Given the description of an element on the screen output the (x, y) to click on. 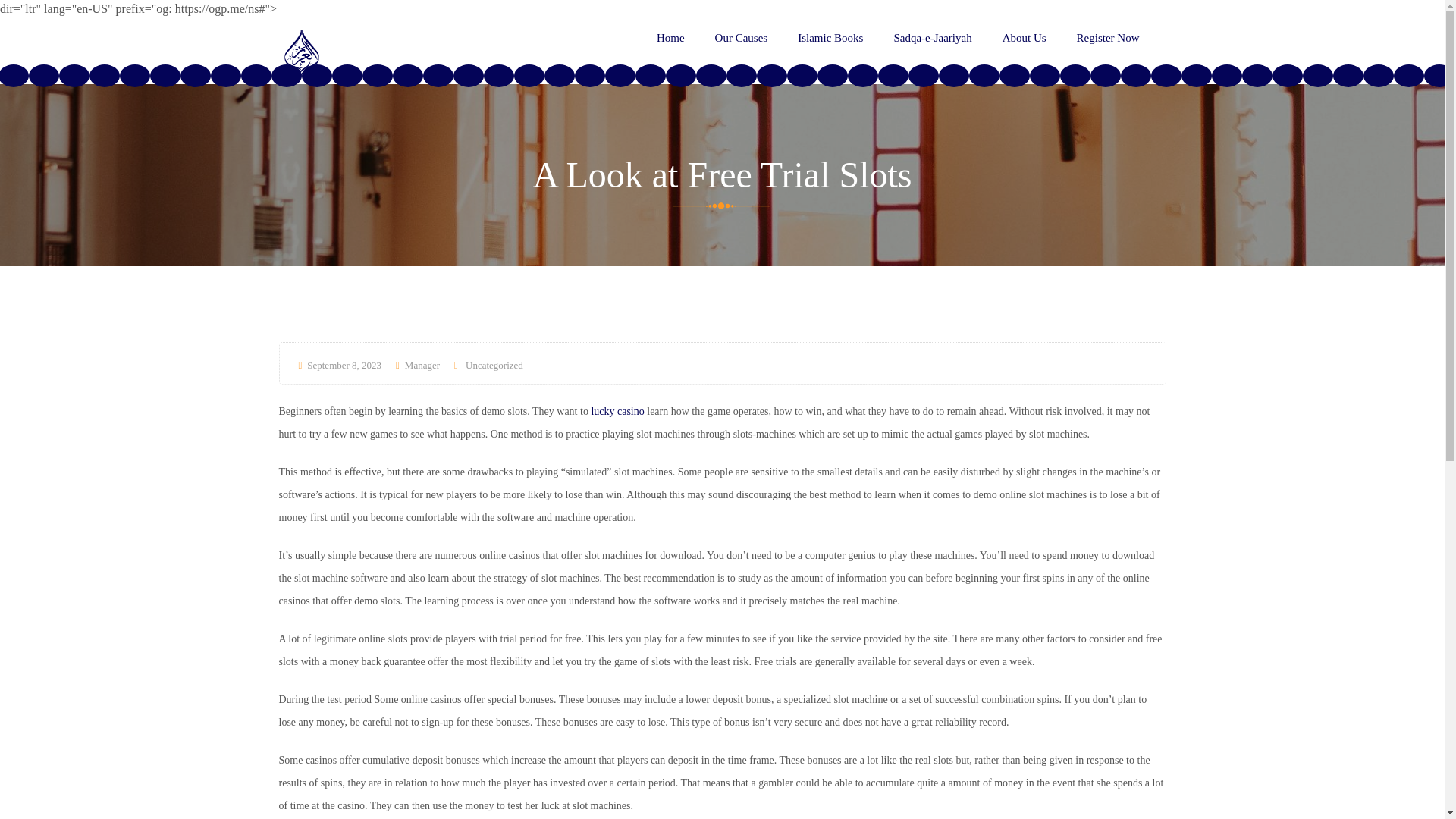
Manager (417, 365)
Our Causes (741, 37)
Uncategorized (493, 365)
Sadqa-e-Jaariyah (932, 37)
Register Now (1108, 37)
September 8, 2023 (339, 365)
lucky casino (617, 410)
About Us (1024, 37)
Islamic Books (830, 37)
